Given the description of an element on the screen output the (x, y) to click on. 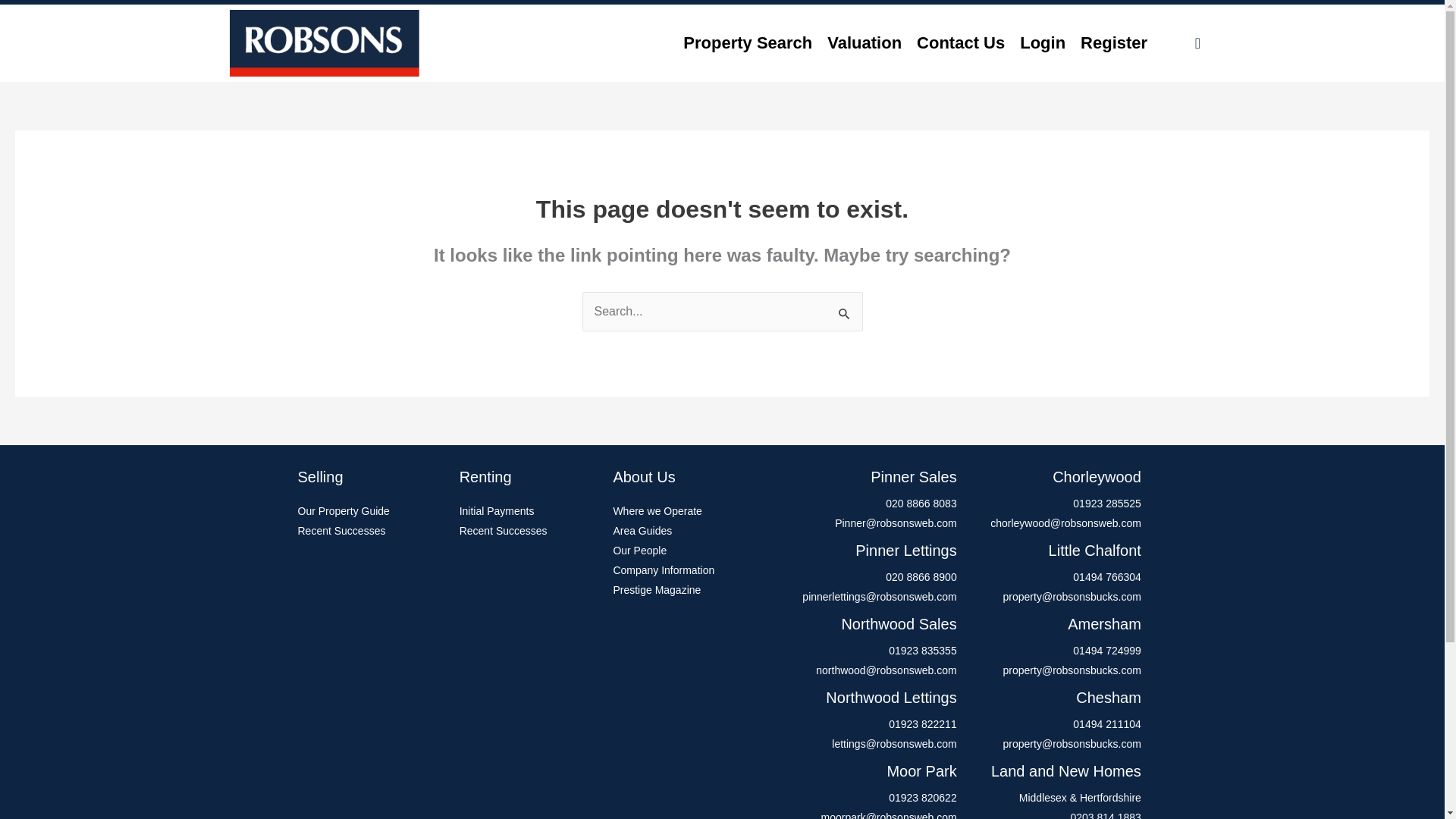
020 8866 8900 (864, 578)
Initial Payments (529, 511)
Contact Us (959, 42)
Prestige Magazine (683, 590)
Register (1113, 42)
Property Search (747, 42)
Recent Successes (529, 531)
020 8866 8083 (864, 504)
Login (1042, 42)
Recent Successes (370, 531)
